Given the description of an element on the screen output the (x, y) to click on. 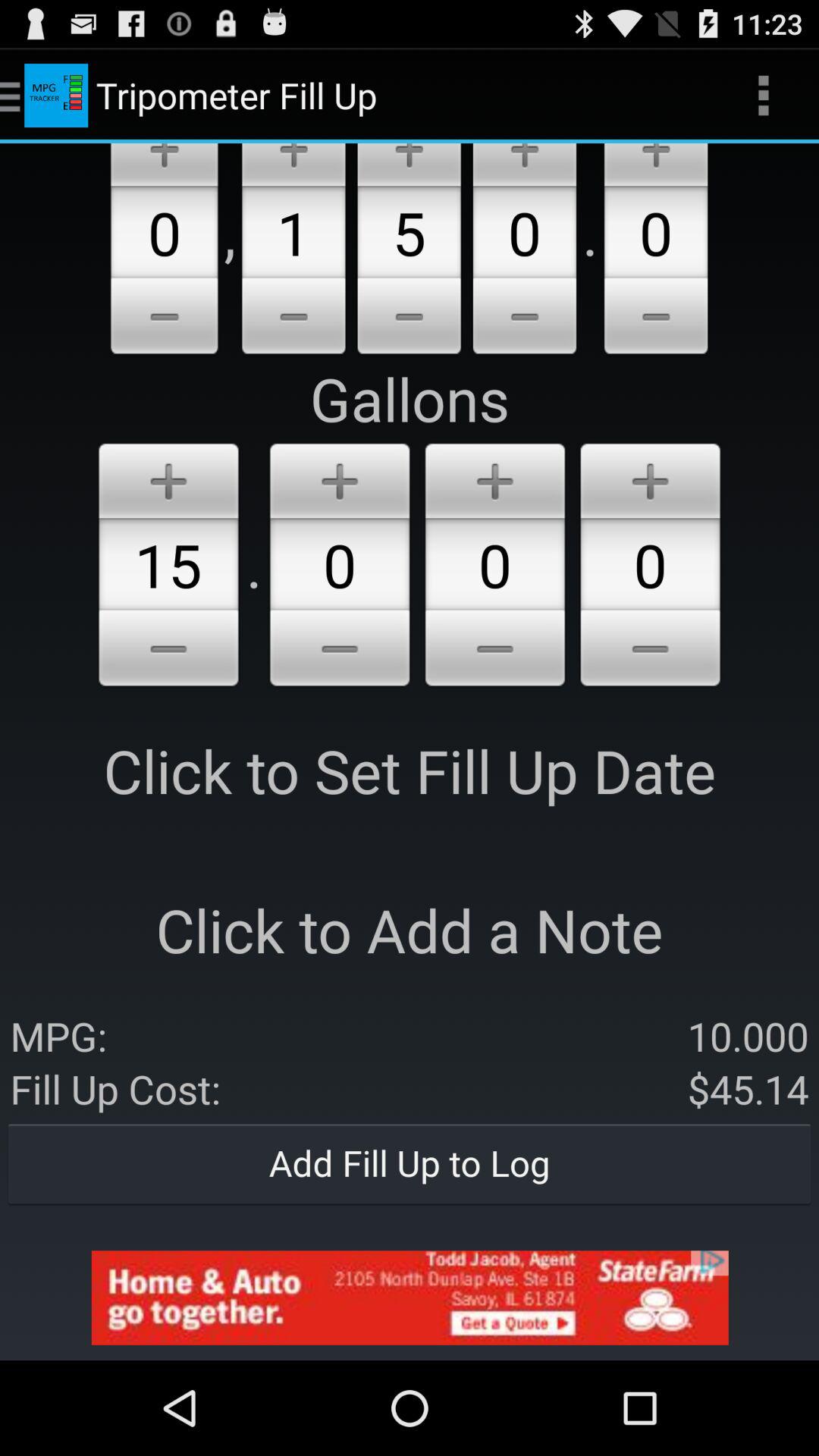
click to add (408, 164)
